Given the description of an element on the screen output the (x, y) to click on. 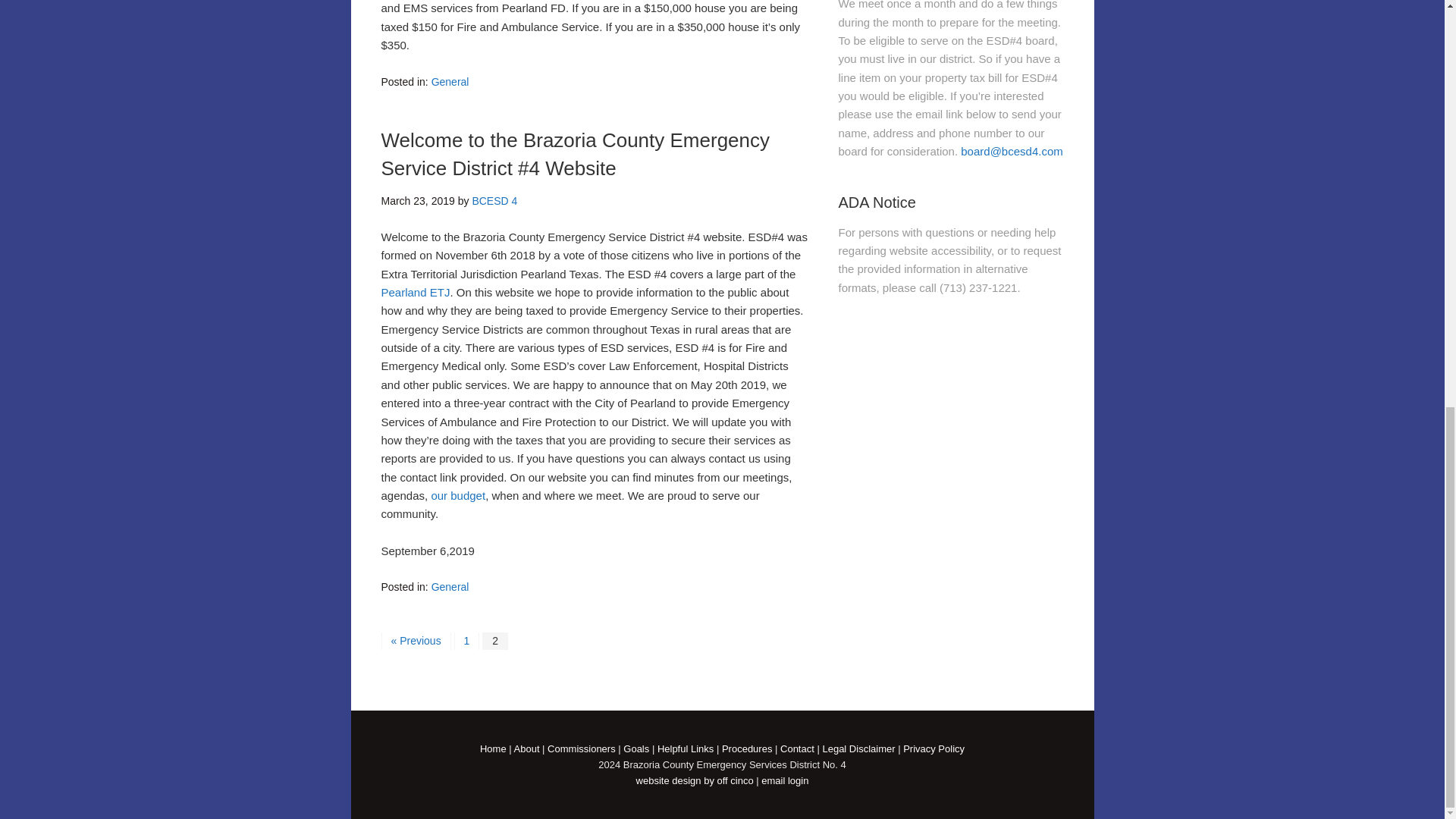
About (526, 748)
Procedures (746, 748)
Helpful Links (685, 748)
Home (493, 748)
Pearland ETJ (414, 291)
Goals (636, 748)
General (449, 81)
Saturday, March 23, 2019, 11:42 am (417, 200)
our budget (457, 495)
1 (467, 640)
Commissioners (581, 748)
email login (784, 780)
BCESD 4 (493, 200)
website design by off cinco (695, 780)
General (449, 586)
